Given the description of an element on the screen output the (x, y) to click on. 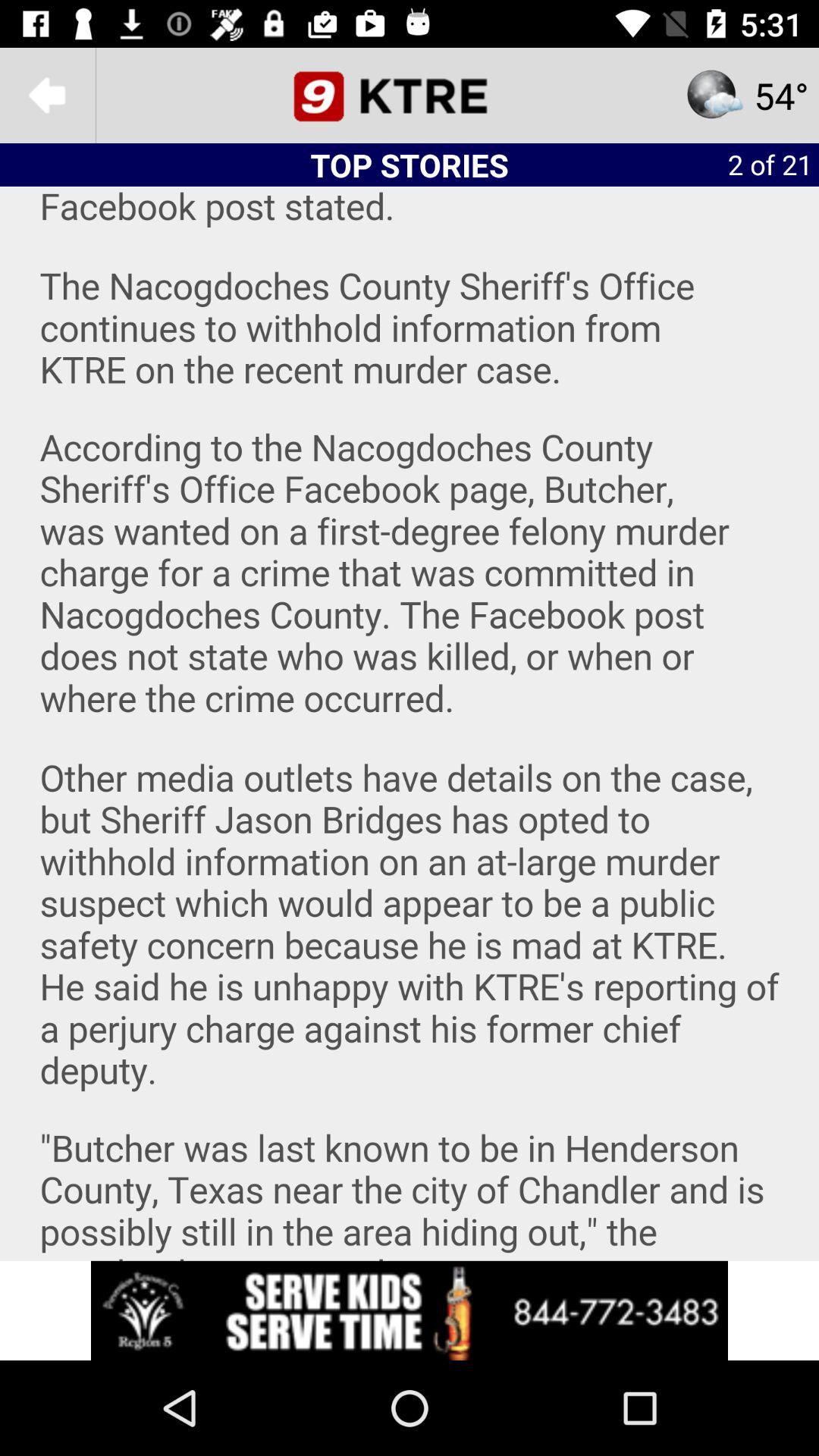
go to previous (47, 95)
